Given the description of an element on the screen output the (x, y) to click on. 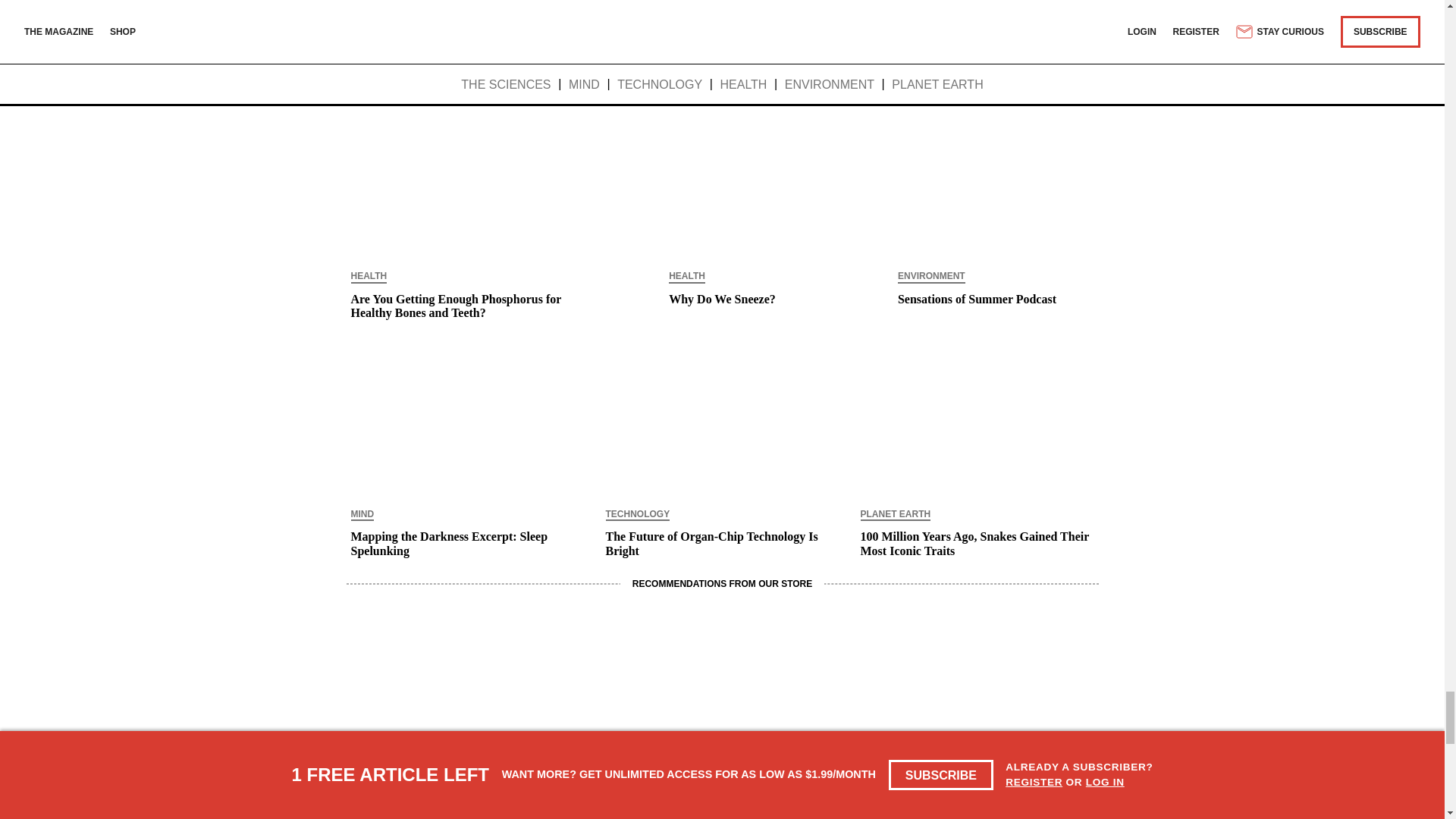
HEALTH (368, 277)
physics (374, 44)
biology (436, 44)
chemistry (505, 44)
HEALTH (686, 277)
